Given the description of an element on the screen output the (x, y) to click on. 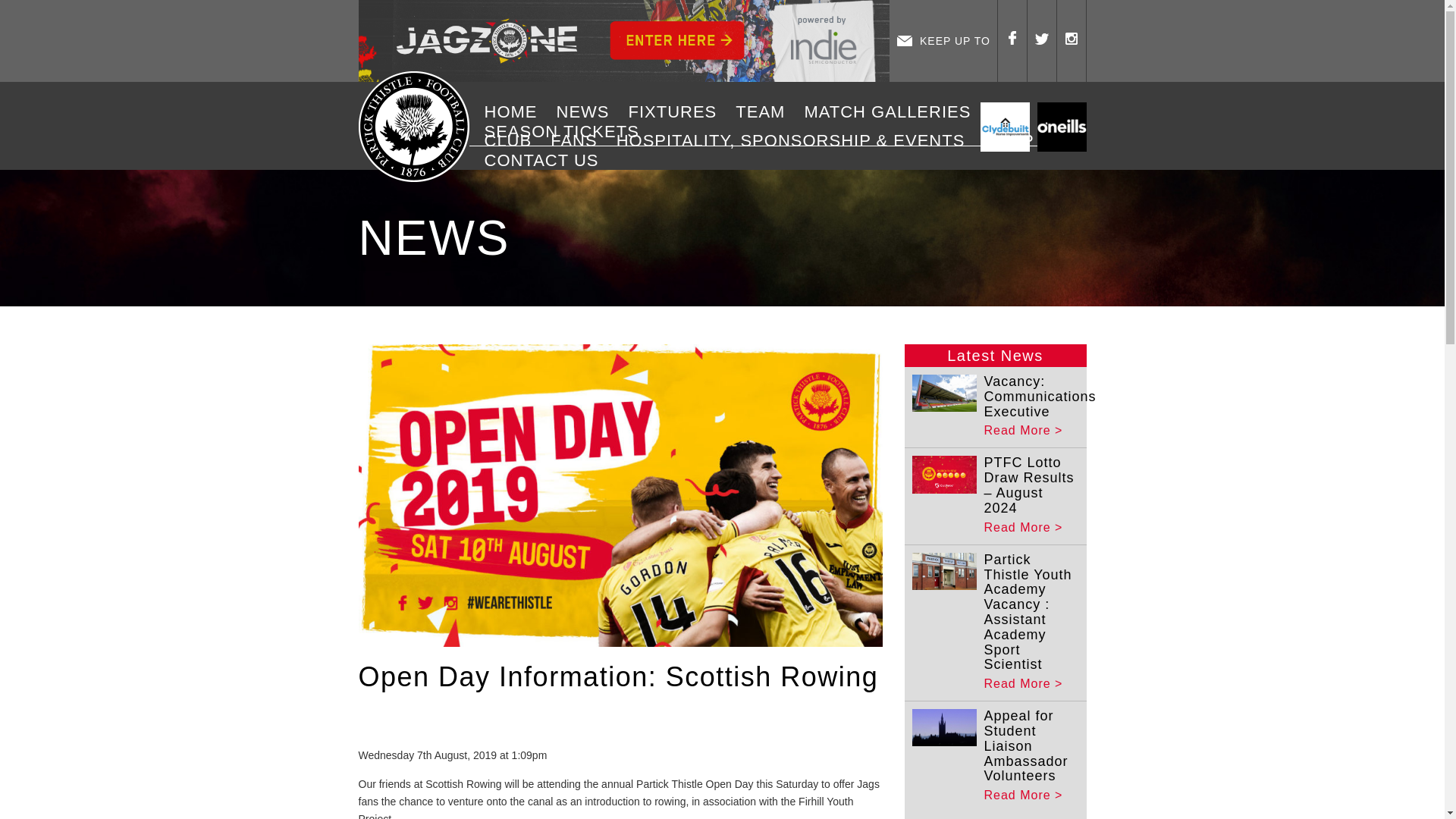
FANS (579, 140)
CLUB (513, 140)
FIXTURES (678, 112)
NEWS (587, 112)
HOME (516, 112)
Vacancy: Communications Executive (1040, 396)
KEEP UP TO DATE (943, 40)
SEASON TICKETS (566, 131)
MATCH GALLERIES (892, 112)
